Given the description of an element on the screen output the (x, y) to click on. 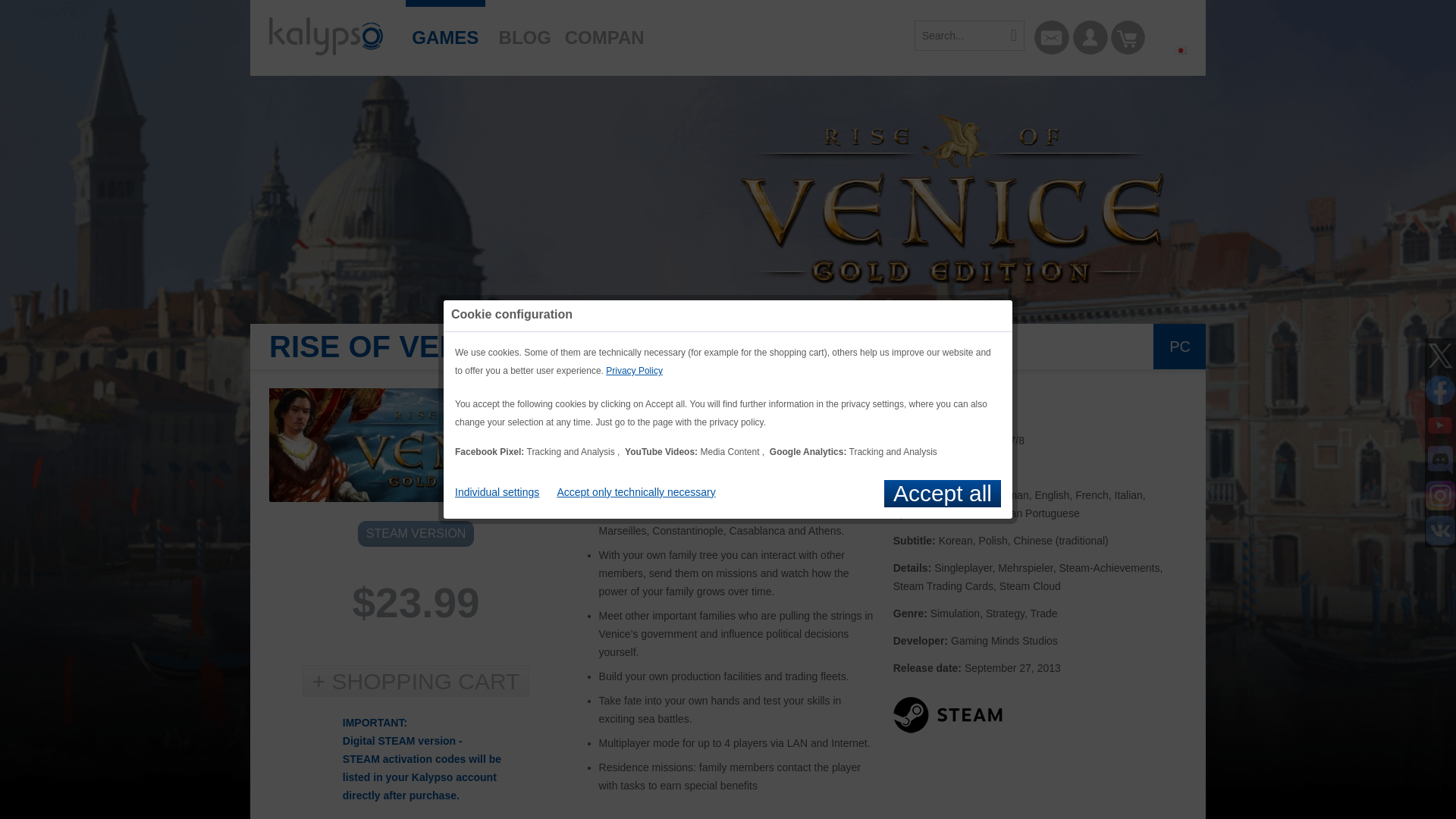
Company (604, 30)
Kalypso US - Switch to homepage (325, 36)
BLOG (524, 30)
GAMES (445, 30)
Games (445, 30)
COMPANY (604, 30)
Blog (524, 30)
